Given the description of an element on the screen output the (x, y) to click on. 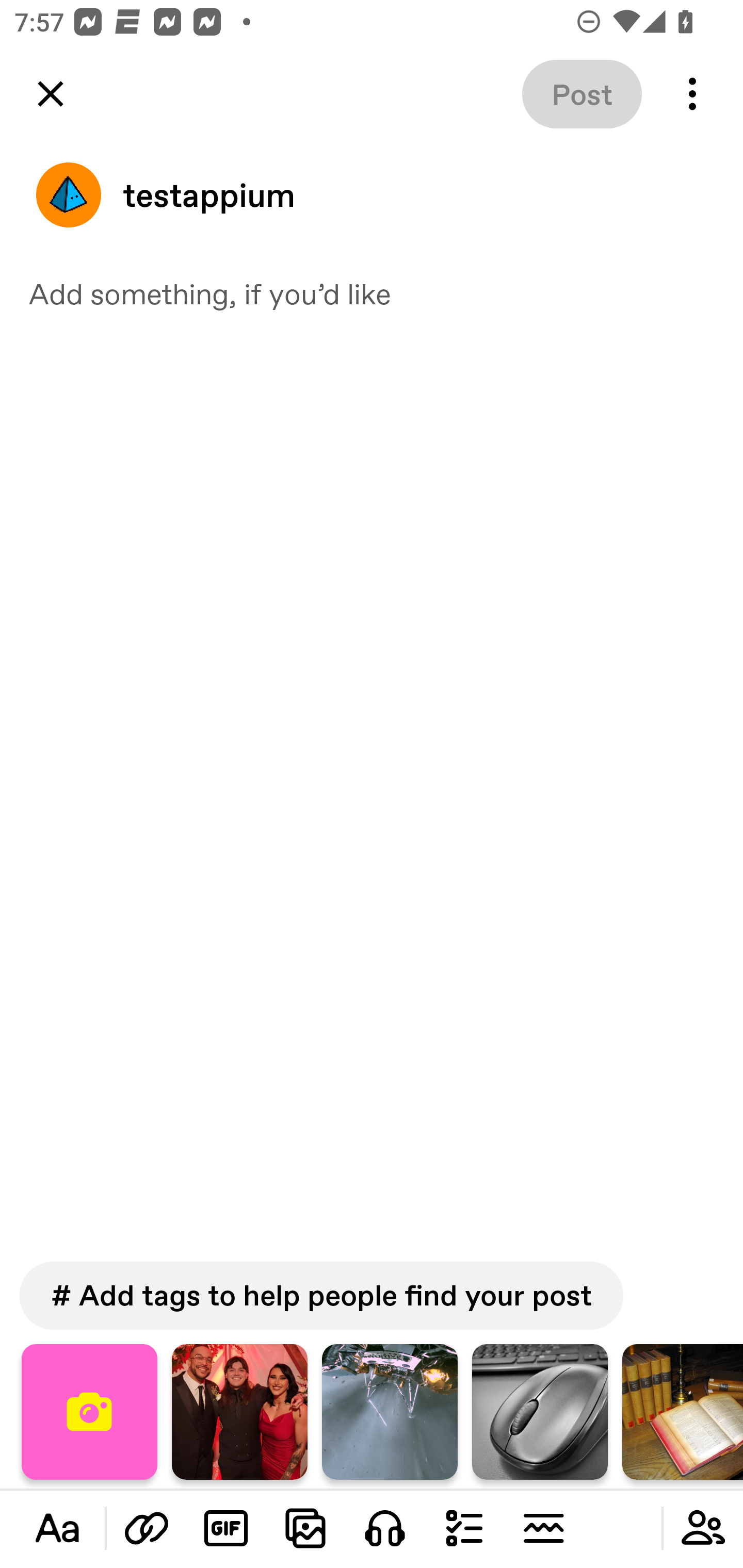
Navigate up (50, 93)
Post (581, 93)
Blog Selector testappium (371, 195)
Add something, if you’d like (371, 293)
# Add tags to help people find your post (320, 1295)
Photo (239, 1411)
Photo (389, 1411)
Photo (539, 1411)
Photo (682, 1411)
Add text to post (57, 1528)
Add text to post (146, 1528)
Add GIF to post (225, 1528)
Add Photo to post (305, 1528)
Add Audio to post (384, 1528)
Add Poll to post (463, 1528)
Add read-more link to post (543, 1528)
Add community label for post (703, 1528)
